Given the description of an element on the screen output the (x, y) to click on. 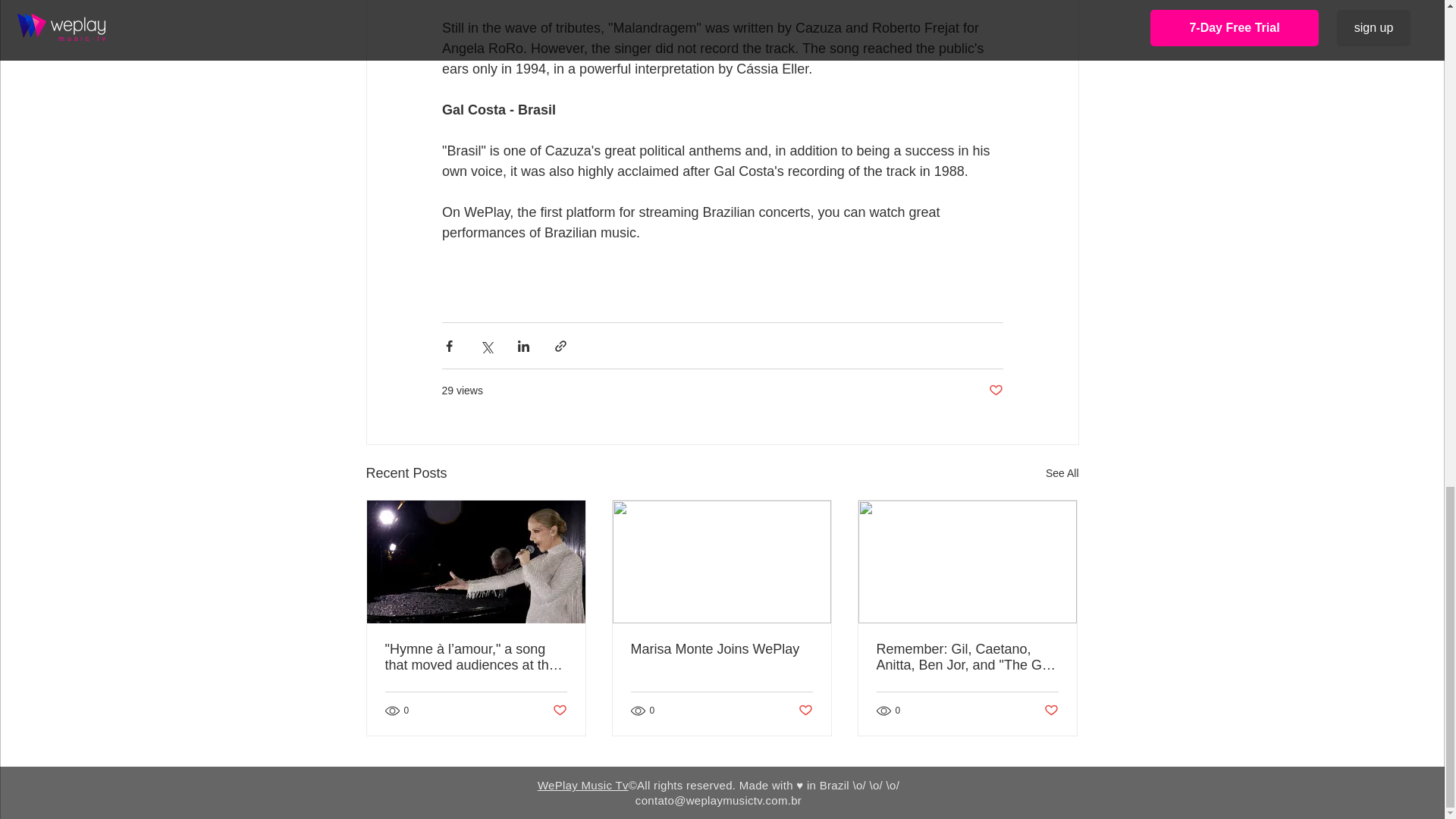
Post not marked as liked (995, 390)
Post not marked as liked (804, 710)
Marisa Monte Joins WePlay (721, 649)
Post not marked as liked (1050, 710)
See All (1061, 473)
WePlay Music Tv (582, 784)
Post not marked as liked (558, 710)
